Given the description of an element on the screen output the (x, y) to click on. 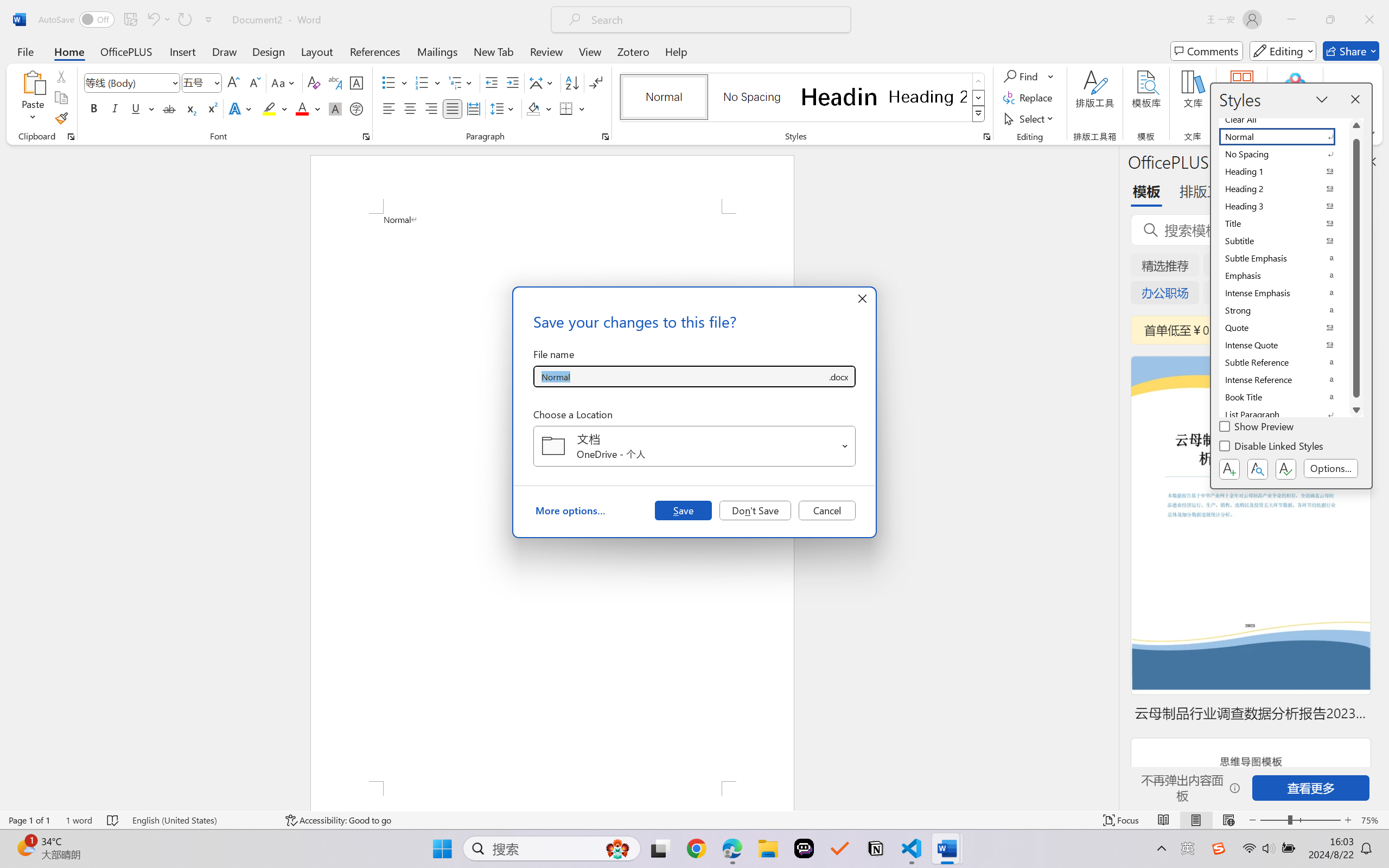
Increase Indent (512, 82)
Cut (60, 75)
Language English (United States) (201, 819)
Character Shading (334, 108)
Save (682, 509)
Comments (1206, 50)
Restore Down (1330, 19)
References (375, 51)
Paste (33, 81)
Styles... (986, 136)
Numbering (428, 82)
